Given the description of an element on the screen output the (x, y) to click on. 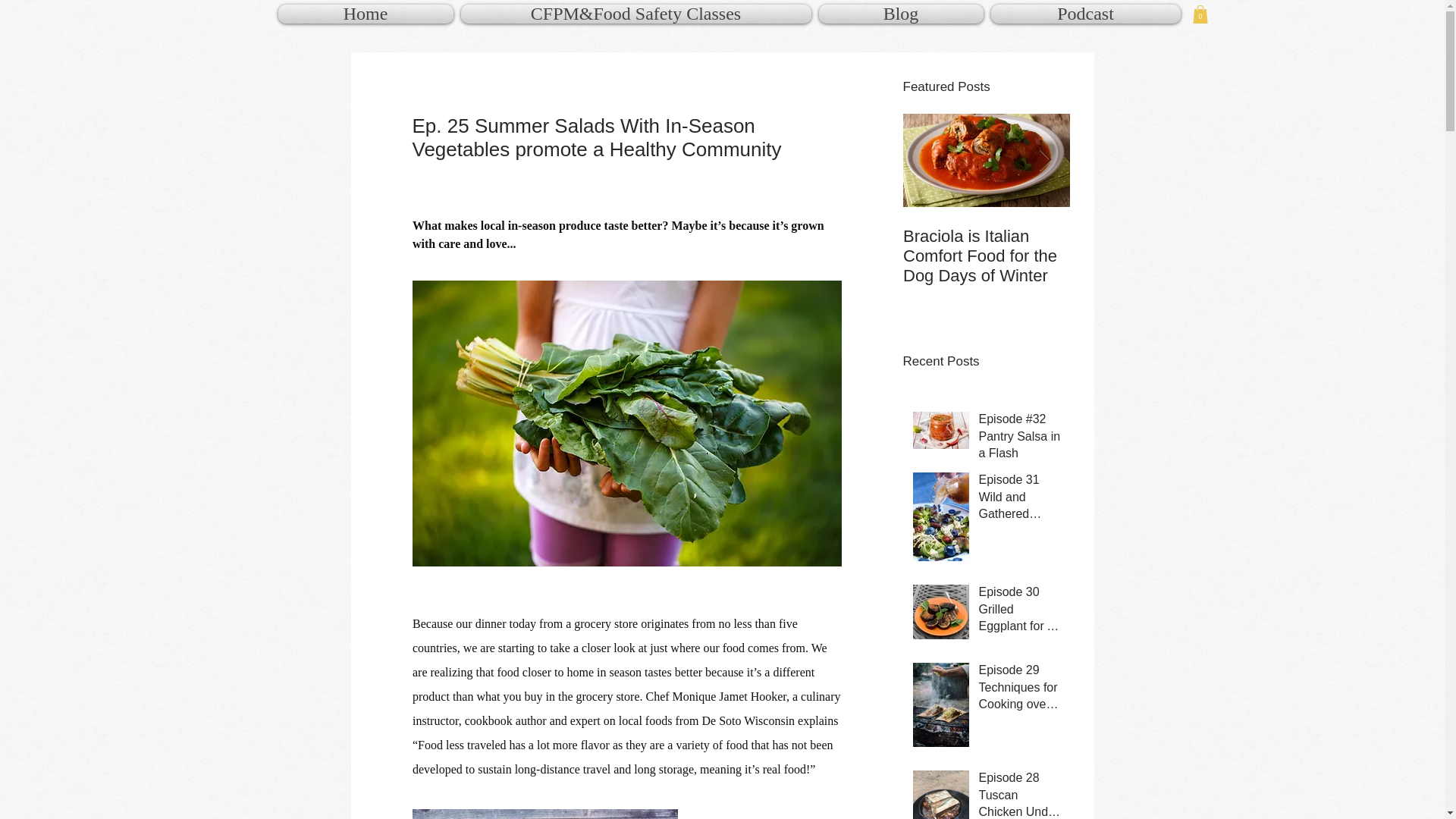
Podcast (1083, 13)
Episode 30 Grilled Eggplant for A Flexitarian Feast (1018, 611)
Home (367, 13)
Episode 28 Tuscan Chicken Under A Brick (1018, 794)
Blog (900, 13)
Veganuary is a great chance to explore plant-based cooking (1152, 255)
Episode 29 Techniques for Cooking over an open fire (1018, 690)
Braciola is Italian Comfort Food for the Dog Days of Winter (985, 255)
Episode 31 Wild and Gathered Summer Salad (1018, 499)
